Given the description of an element on the screen output the (x, y) to click on. 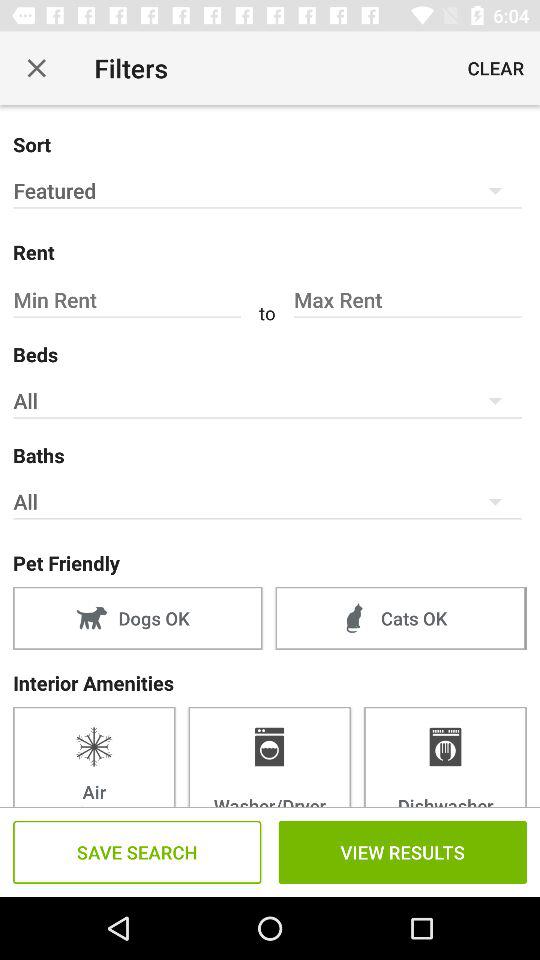
select the item to the left of the washer/dryer item (94, 756)
